Given the description of an element on the screen output the (x, y) to click on. 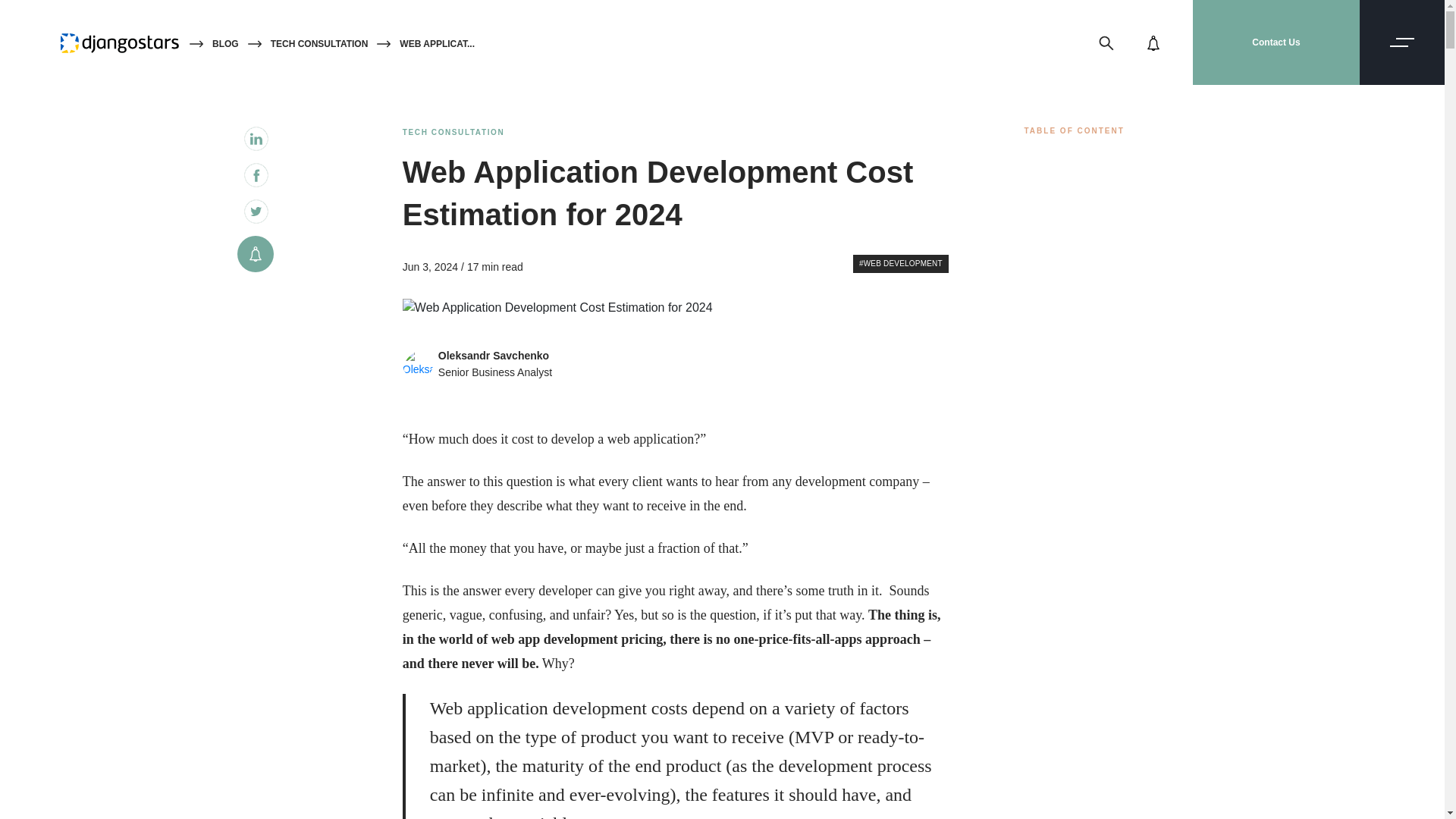
TECH CONSULTATION (319, 44)
Contact Us (1275, 42)
BLOG (225, 44)
